Given the description of an element on the screen output the (x, y) to click on. 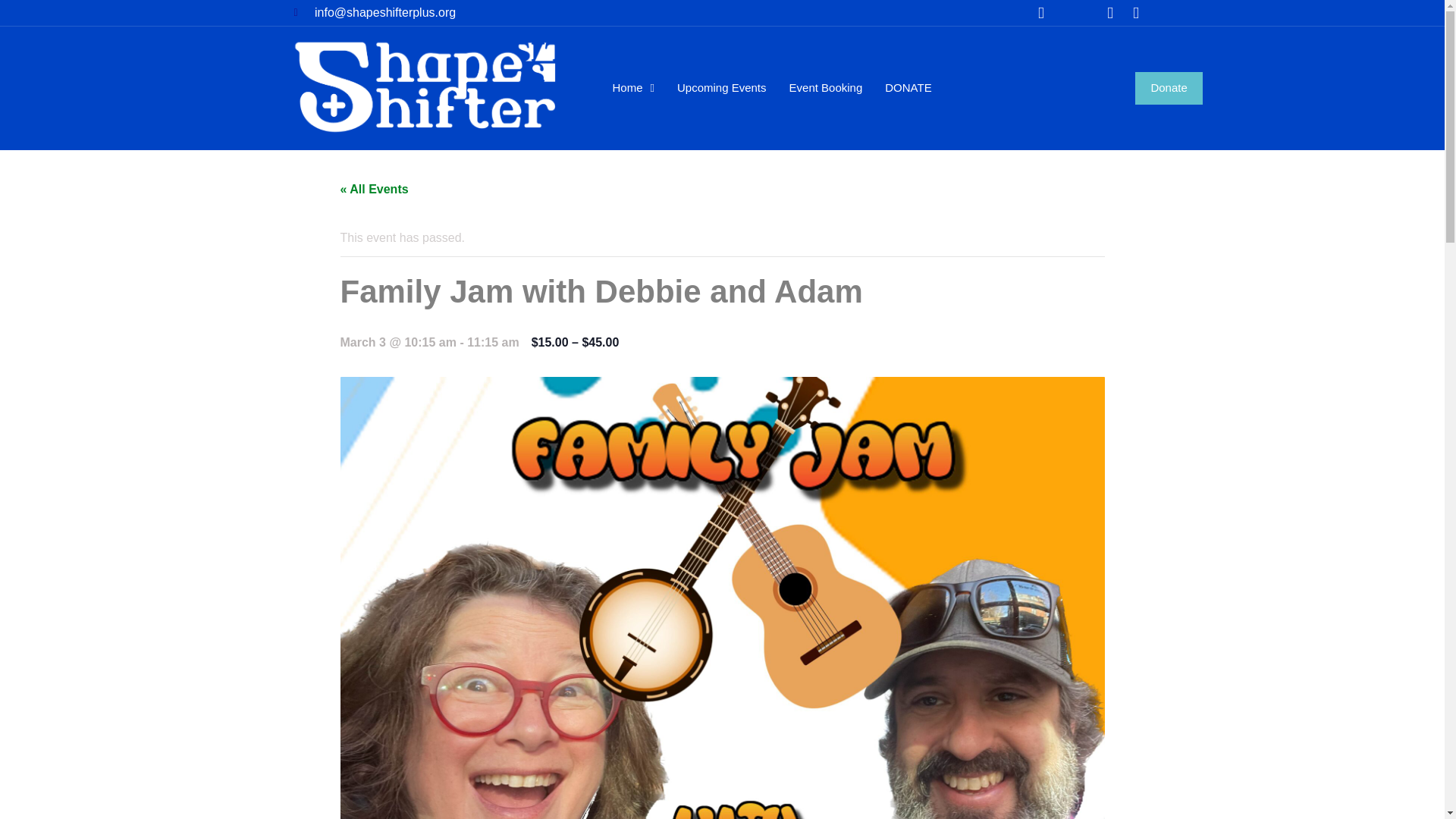
Home (632, 88)
Upcoming Events (722, 88)
Event Booking (826, 88)
DONATE (908, 88)
Donate (1168, 88)
